Given the description of an element on the screen output the (x, y) to click on. 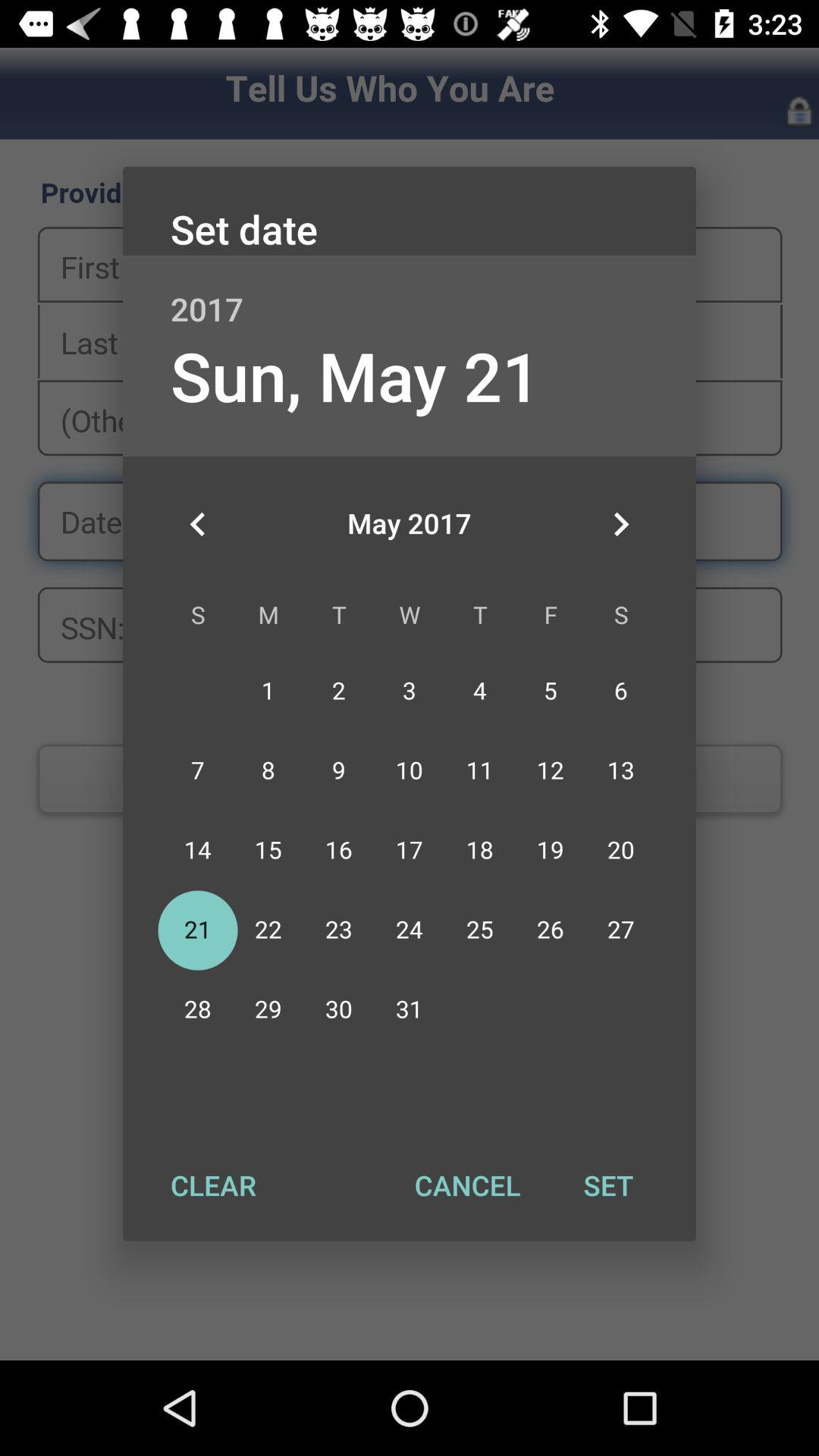
swipe to the clear button (213, 1185)
